Given the description of an element on the screen output the (x, y) to click on. 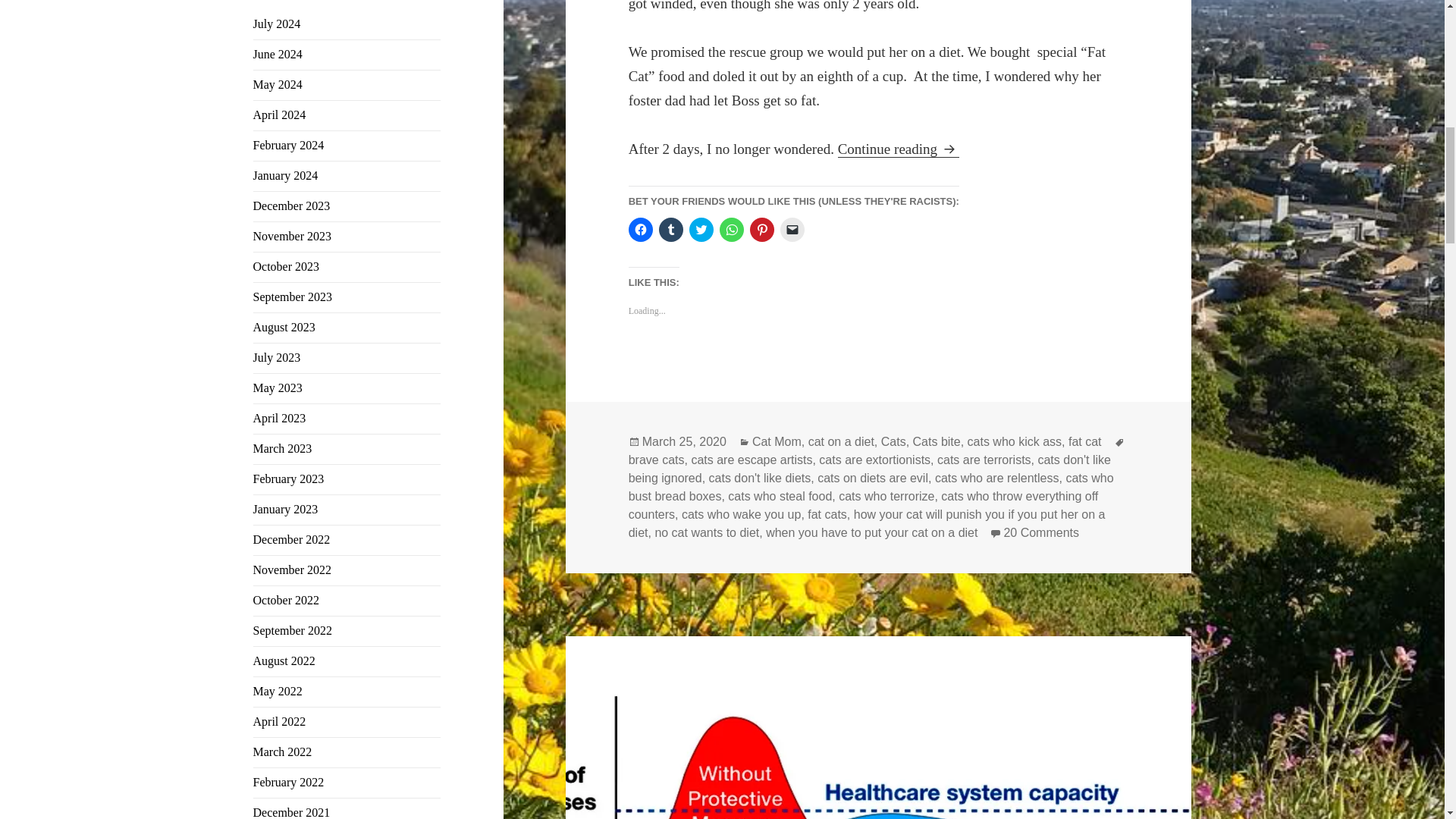
June 2024 (277, 53)
Click to share on WhatsApp (731, 229)
Click to share on Twitter (700, 229)
April 2023 (279, 418)
January 2023 (285, 508)
August 2022 (284, 660)
Click to email a link to a friend (792, 229)
January 2024 (285, 174)
July 2023 (277, 357)
December 2022 (291, 539)
December 2023 (291, 205)
October 2022 (286, 599)
September 2022 (292, 630)
November 2022 (292, 569)
April 2024 (279, 114)
